Given the description of an element on the screen output the (x, y) to click on. 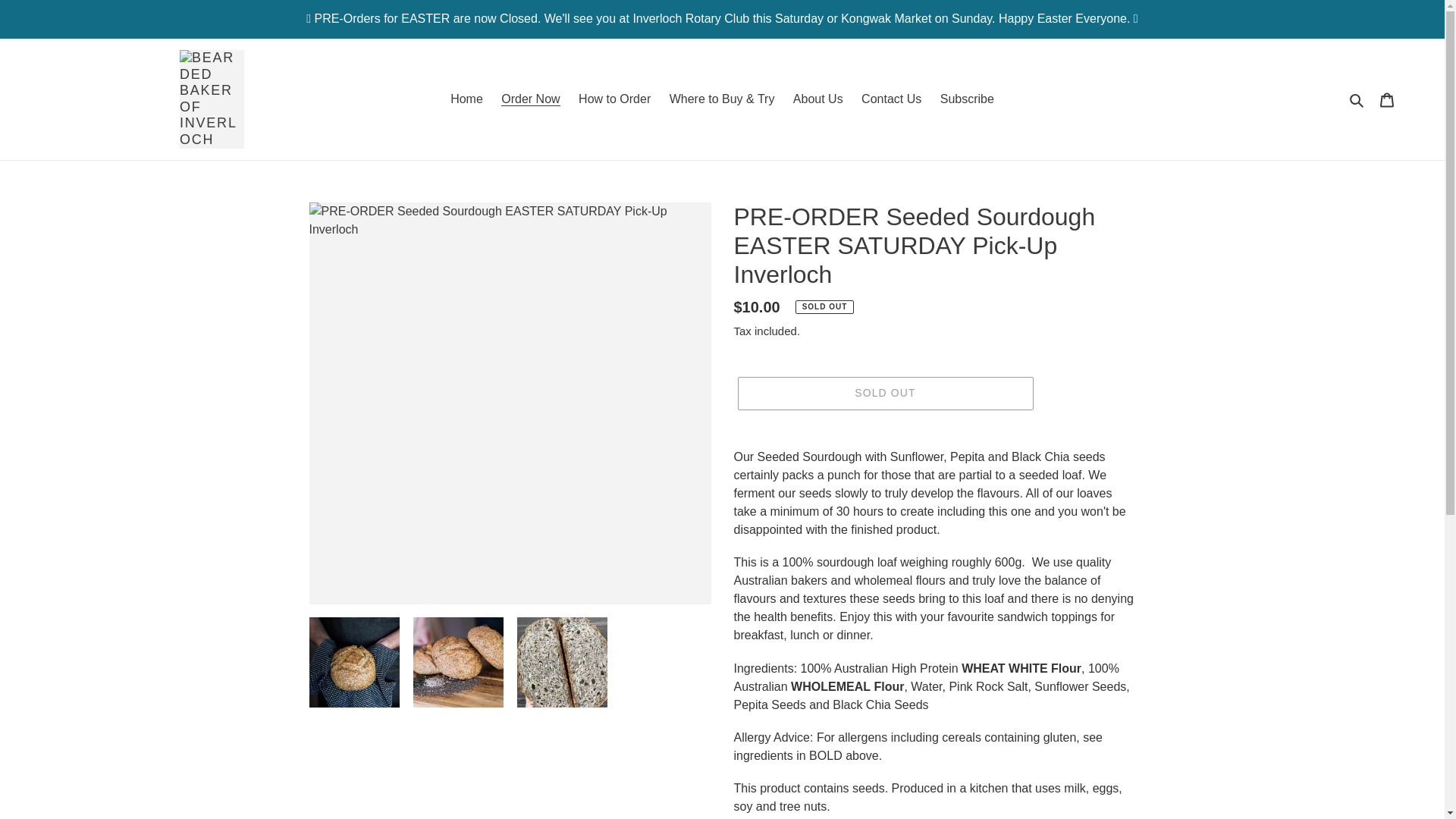
About Us (818, 98)
Subscribe (967, 98)
Cart (1387, 99)
How to Order (614, 98)
Order Now (530, 98)
Home (466, 98)
SOLD OUT (884, 393)
Search (1357, 98)
Contact Us (890, 98)
